Given the description of an element on the screen output the (x, y) to click on. 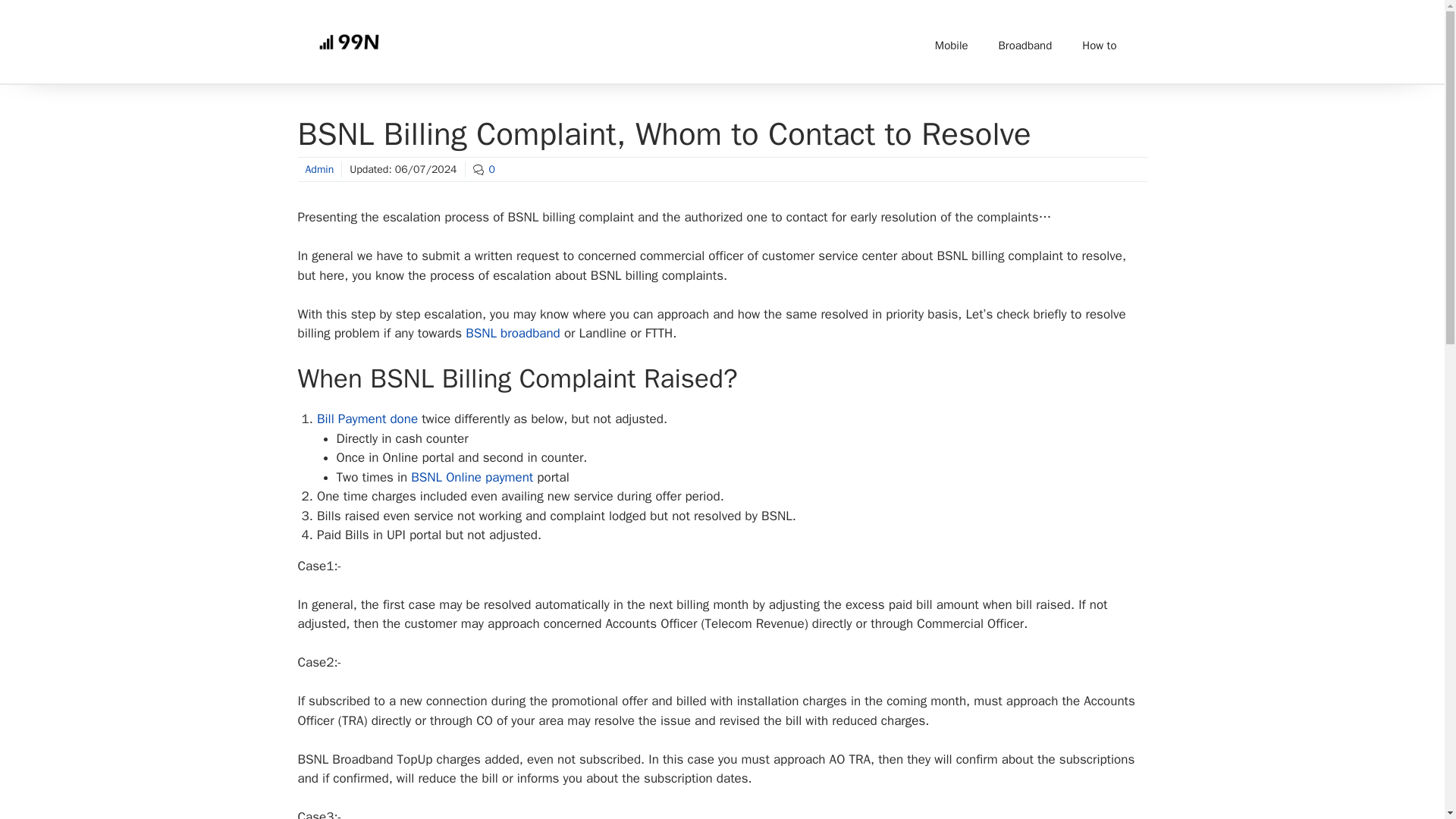
Broadband (1025, 44)
BSNL broadband (512, 333)
Mobile (952, 44)
Bill Payment done (367, 418)
How to (1099, 44)
BSNL Online payment (473, 477)
Admin (318, 169)
